Given the description of an element on the screen output the (x, y) to click on. 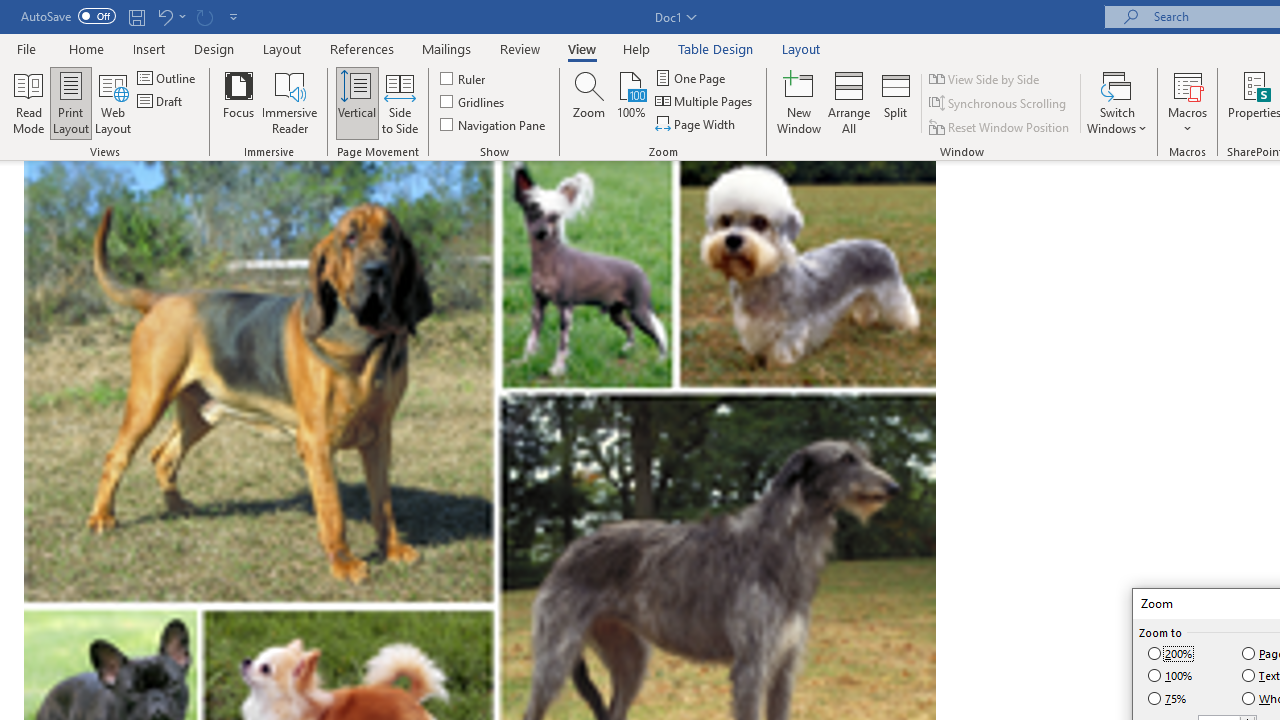
75% (1168, 699)
View Side by Side (985, 78)
Zoom... (589, 102)
Immersive Reader (289, 102)
Macros (1187, 102)
Undo Row Height Spinner (170, 15)
200% (1171, 653)
Side to Side (399, 102)
Ruler (463, 78)
